Given the description of an element on the screen output the (x, y) to click on. 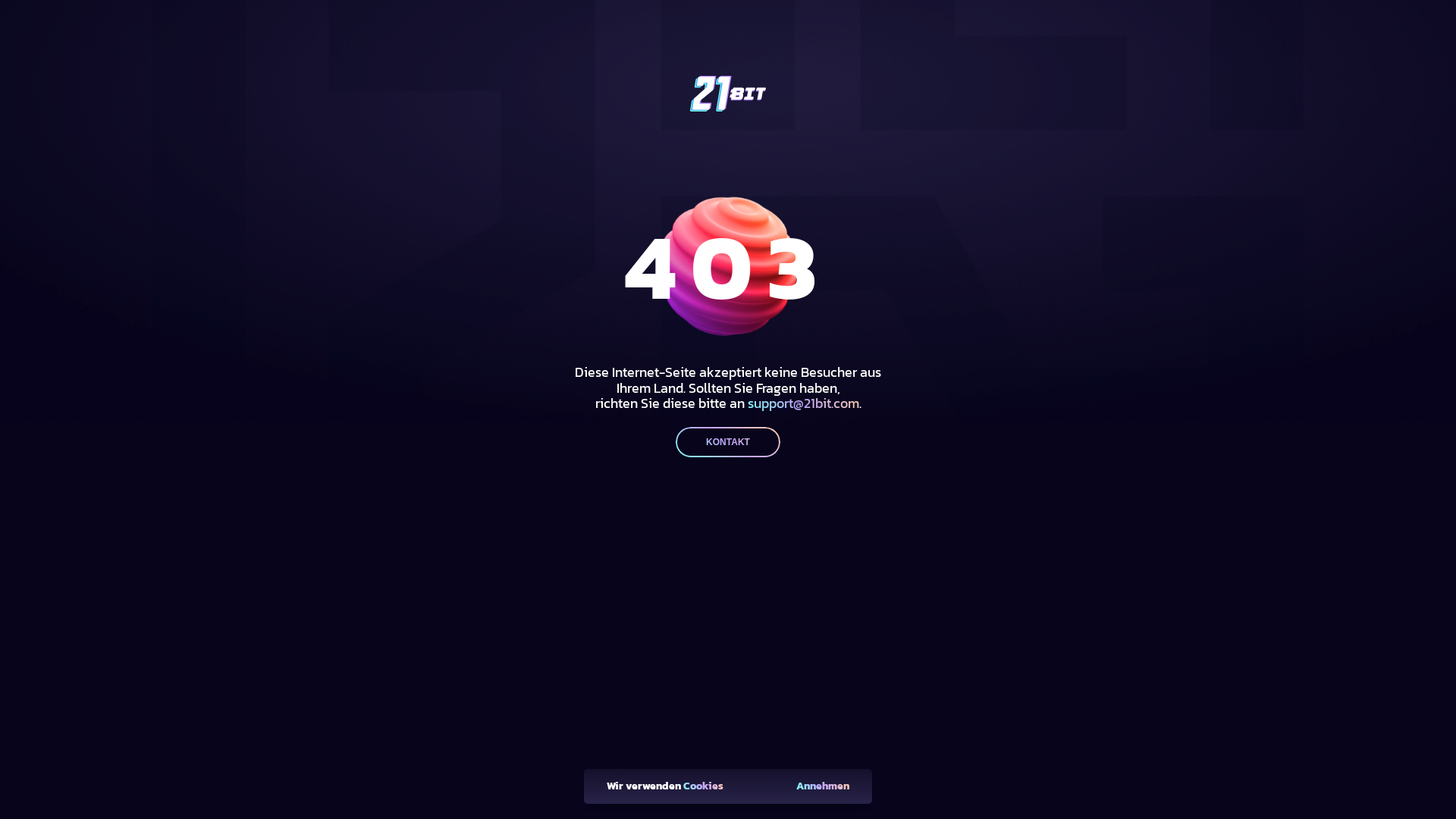
KONTAKT Element type: text (727, 441)
support@21bit.com Element type: text (803, 402)
